Given the description of an element on the screen output the (x, y) to click on. 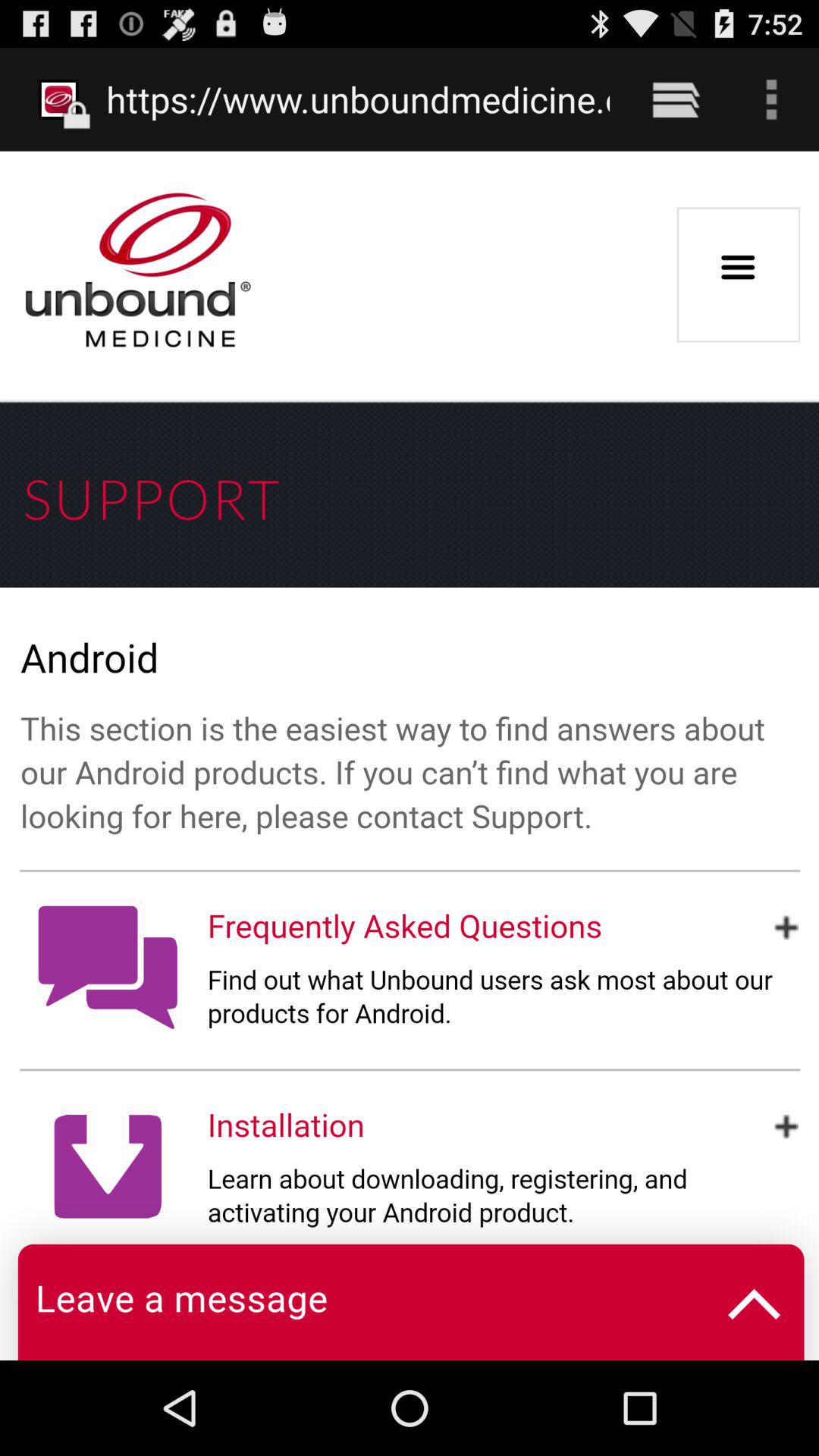
press the icon at the center (409, 755)
